Given the description of an element on the screen output the (x, y) to click on. 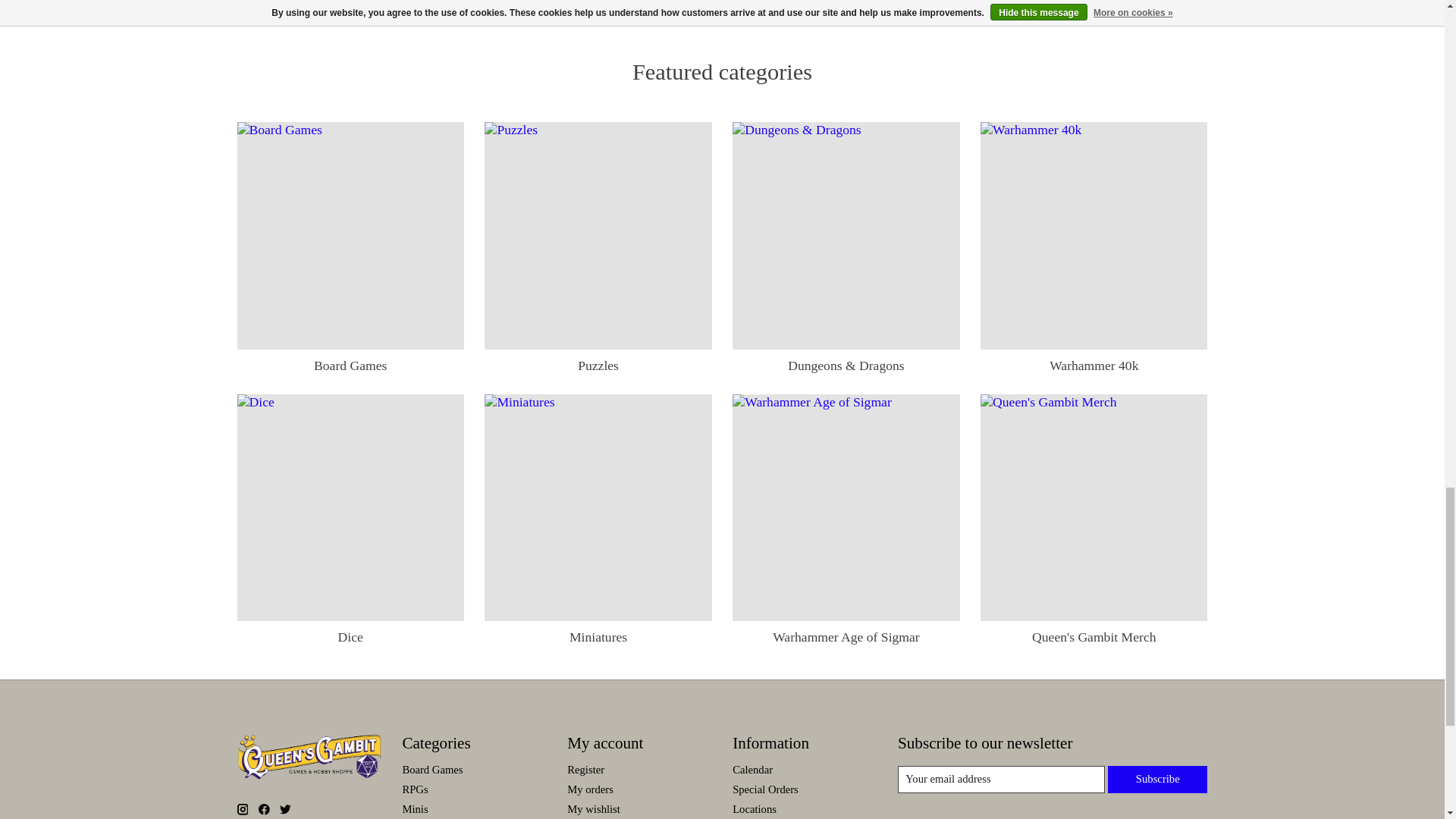
Dice (350, 506)
Register (585, 769)
Warhammer 40k (1093, 235)
My wishlist (593, 808)
Puzzles (597, 235)
Queen's Gambit Merch (1093, 506)
Board Games (350, 235)
Miniatures (597, 506)
Calendar (752, 769)
Warhammer  Age of Sigmar (845, 506)
My orders (589, 788)
